Given the description of an element on the screen output the (x, y) to click on. 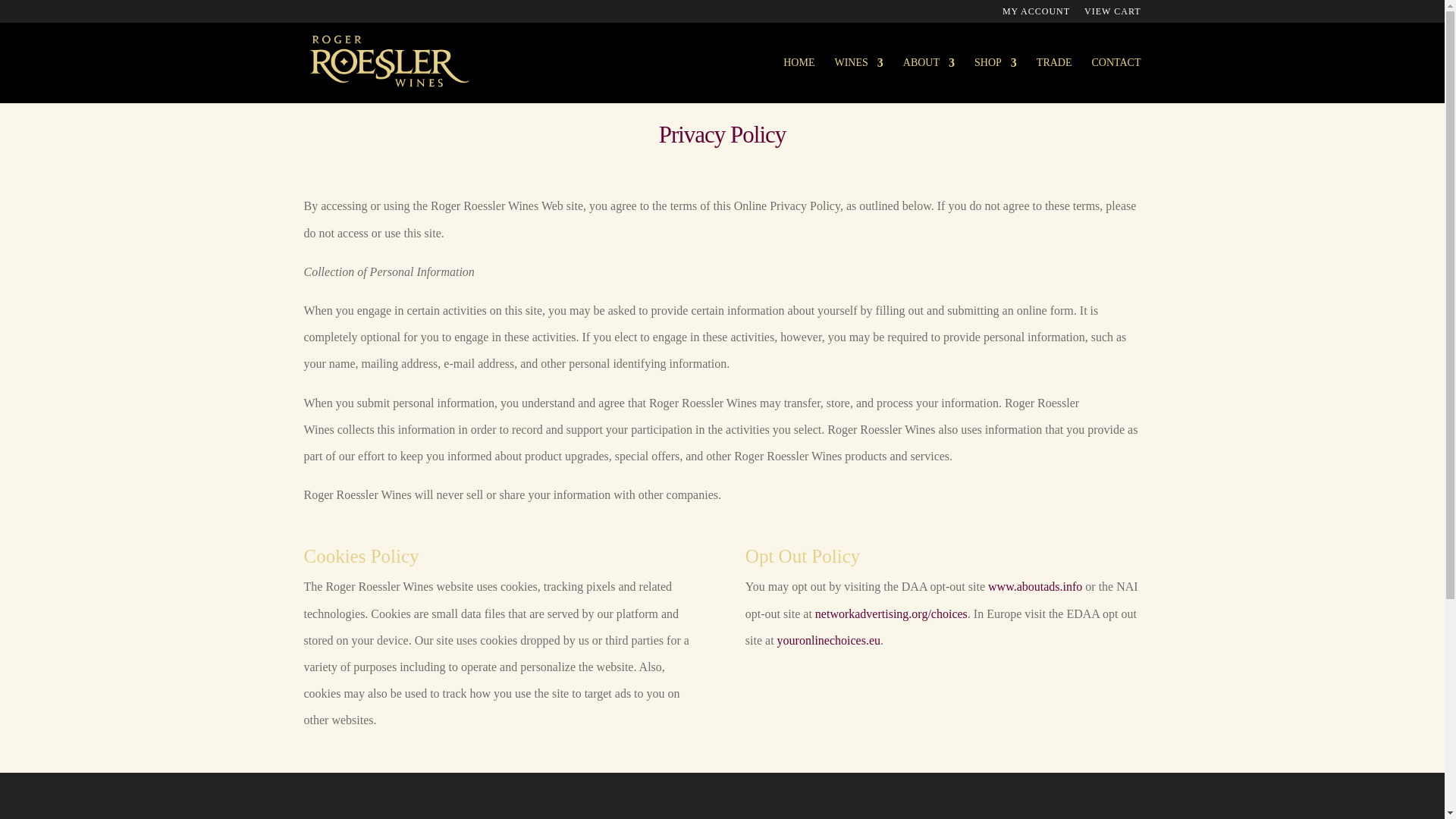
CONTACT (1116, 80)
www.aboutads.info (1034, 585)
SHOP (995, 80)
WINES (858, 80)
VIEW CART (1112, 14)
MY ACCOUNT (1036, 14)
youronlinechoices.eu (828, 640)
ABOUT (928, 80)
